Given the description of an element on the screen output the (x, y) to click on. 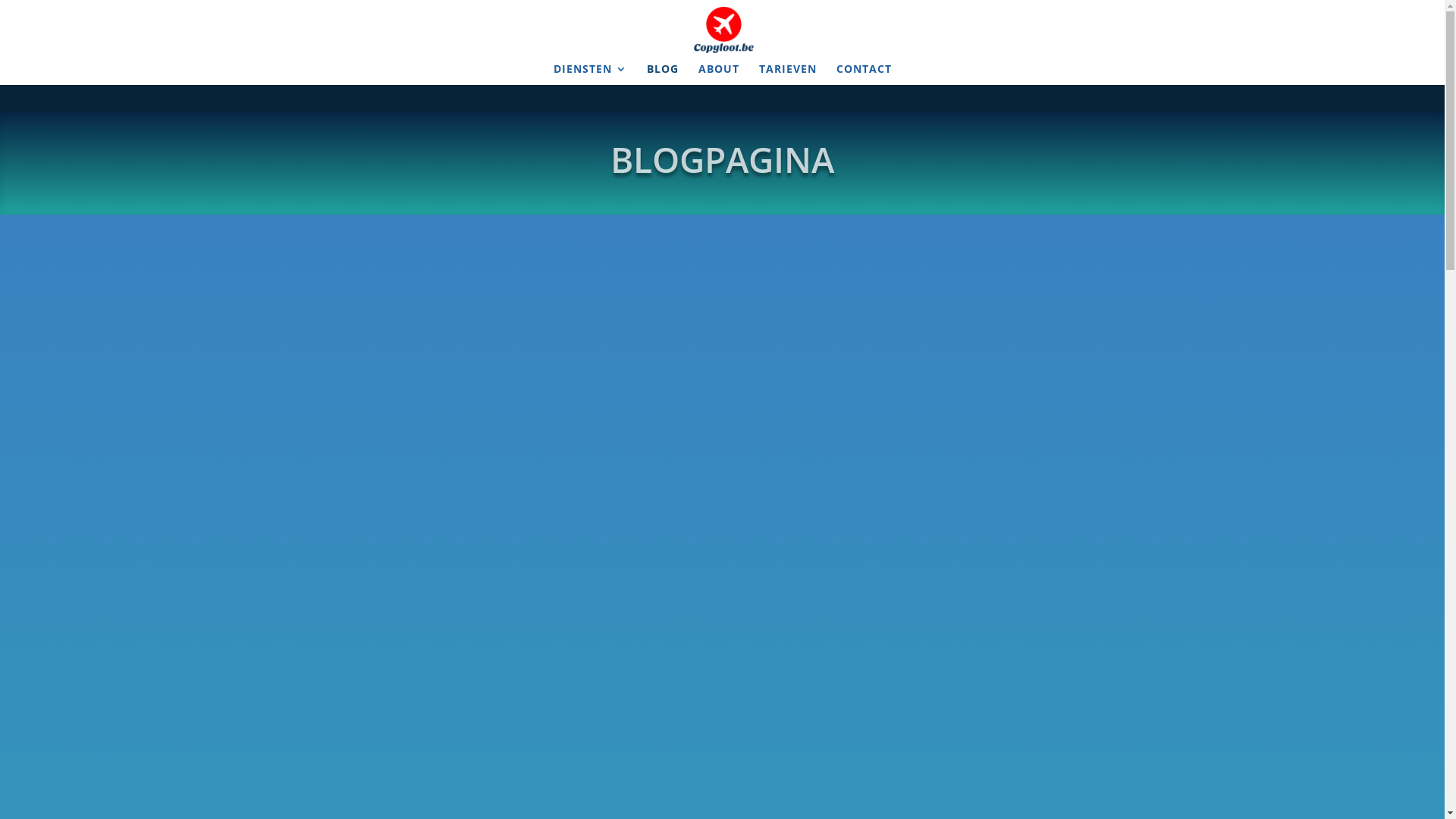
DIENSTEN Element type: text (590, 73)
CONTACT Element type: text (863, 73)
BLOG Element type: text (661, 73)
TARIEVEN Element type: text (786, 73)
ABOUT Element type: text (717, 73)
